Given the description of an element on the screen output the (x, y) to click on. 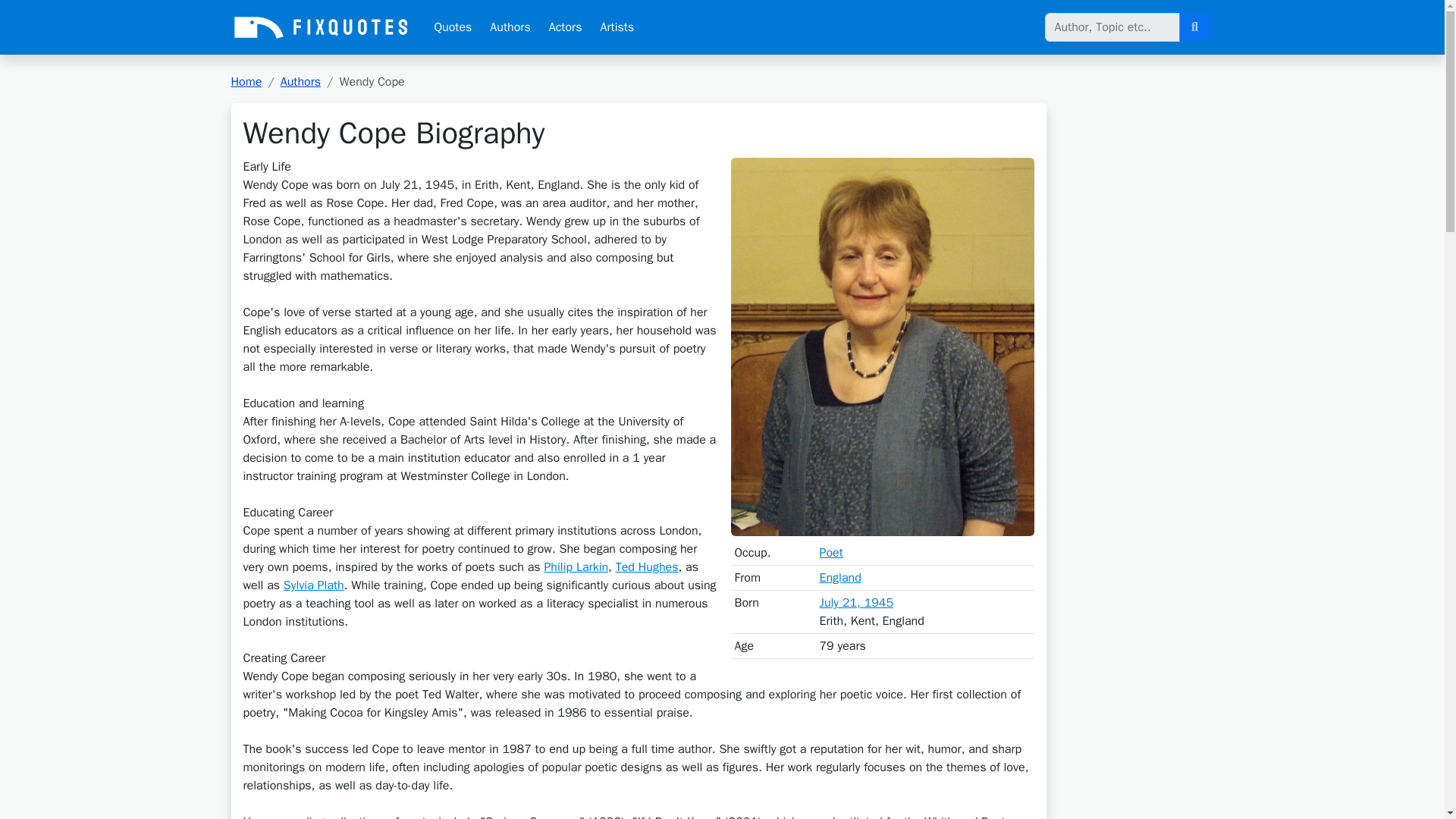
Click to search (1193, 26)
England (839, 577)
Quotes (452, 27)
Philip Larkin (575, 566)
Artists (617, 27)
Home (246, 81)
Authors (300, 81)
Poet (830, 552)
July 21, 1945 (855, 602)
Authors (509, 27)
Ted Hughes (646, 566)
Sylvia Plath (313, 585)
Actors (565, 27)
